Given the description of an element on the screen output the (x, y) to click on. 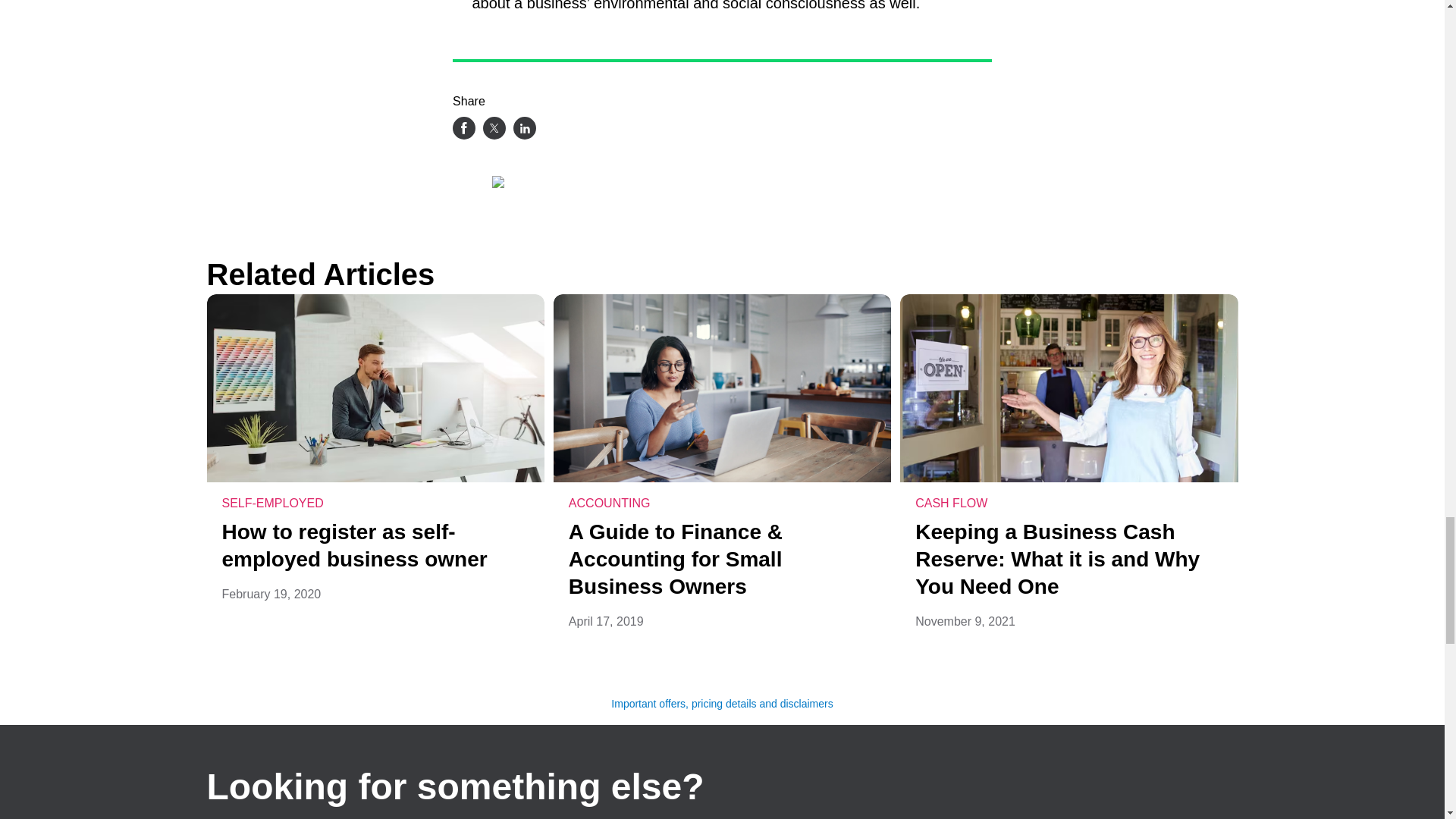
Share on LinkedIn (524, 128)
Share on Facebook (464, 128)
Share on Twitter (494, 128)
